Given the description of an element on the screen output the (x, y) to click on. 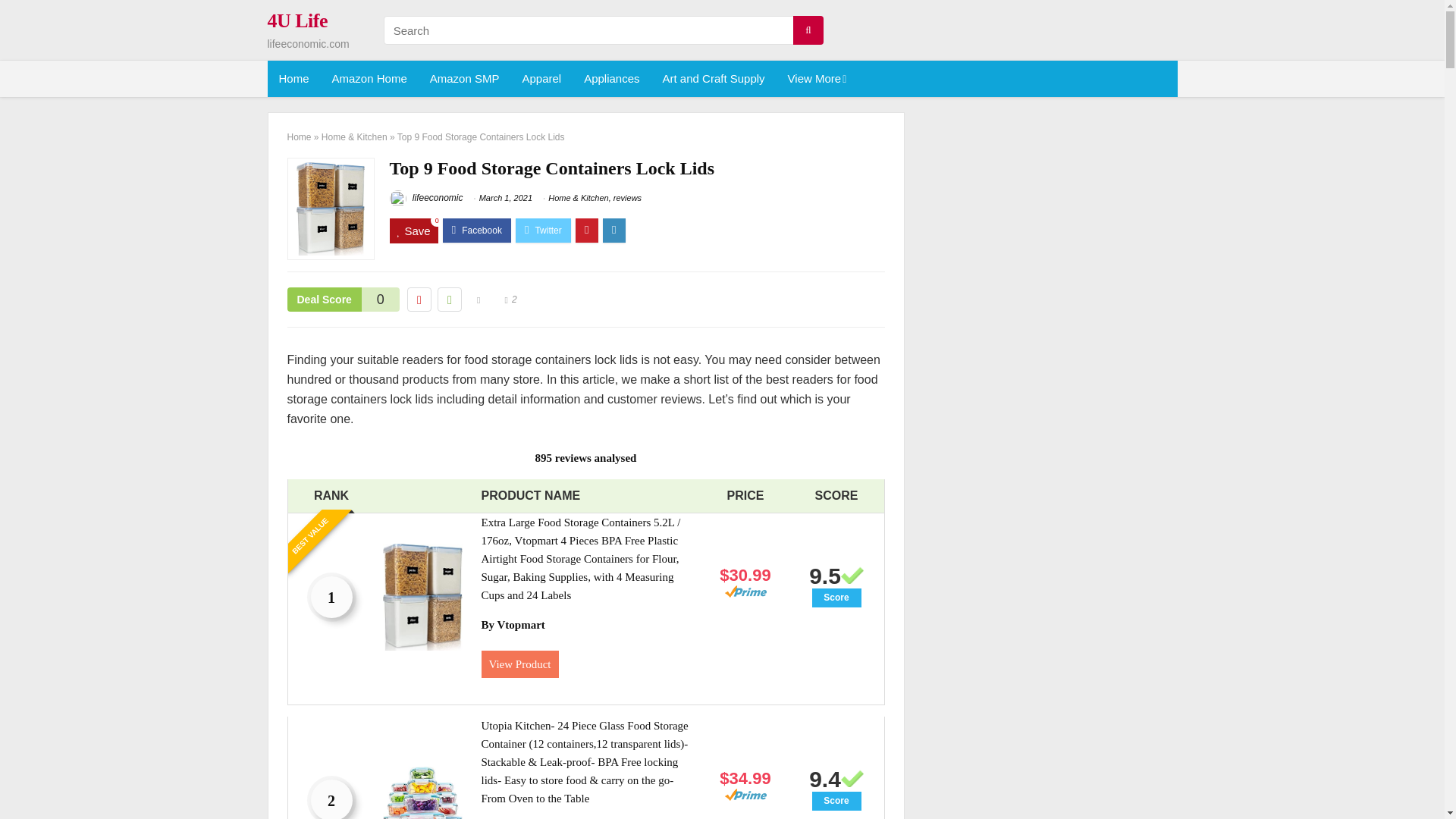
Apparel (541, 78)
Amazon SMP (465, 78)
Appliances (611, 78)
Home (293, 78)
Vote down (418, 299)
View all posts in reviews (627, 197)
Art and Craft Supply (713, 78)
View More (816, 78)
Amazon Home (369, 78)
